Given the description of an element on the screen output the (x, y) to click on. 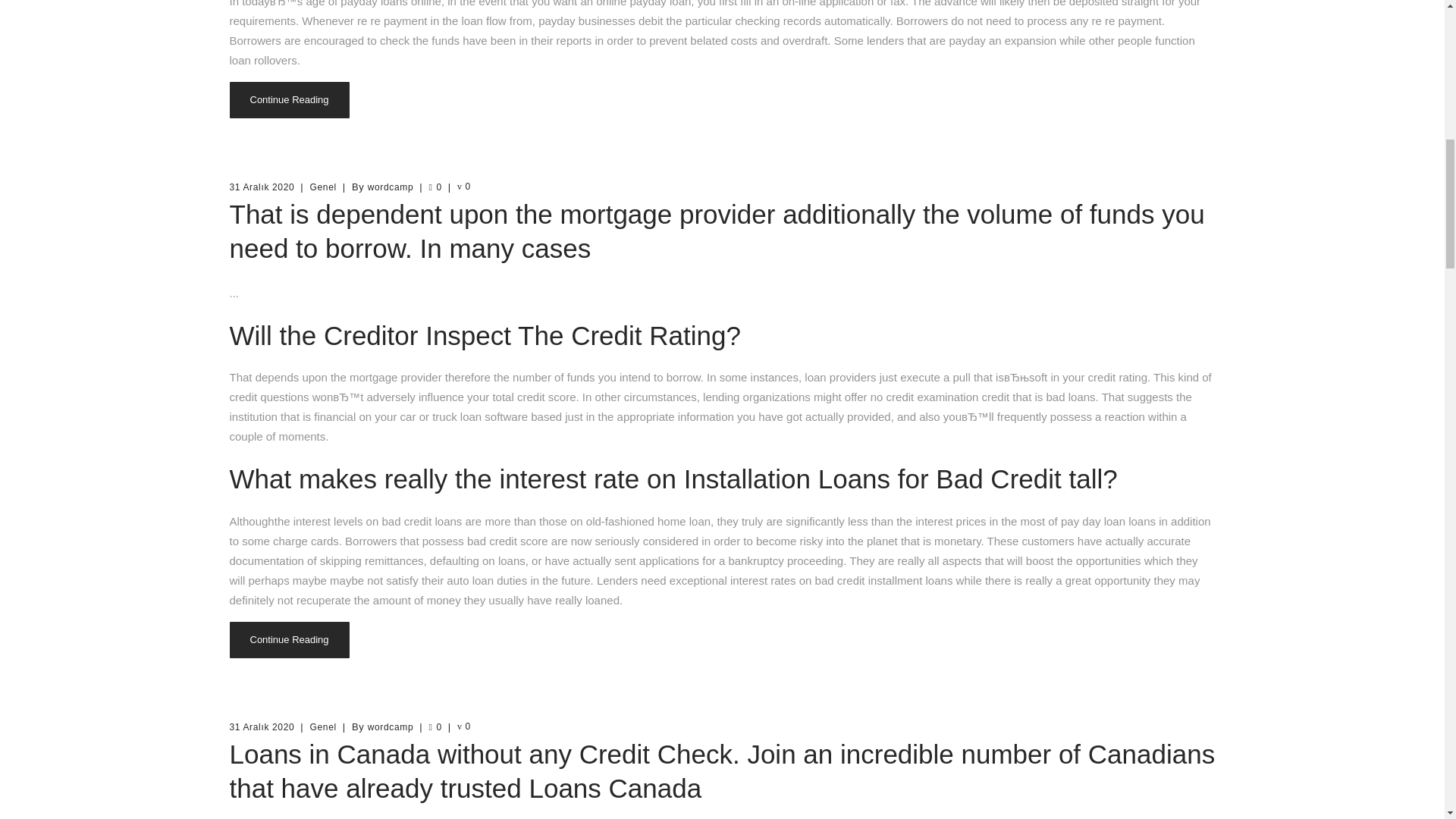
Like this (434, 186)
Like this (434, 726)
